Given the description of an element on the screen output the (x, y) to click on. 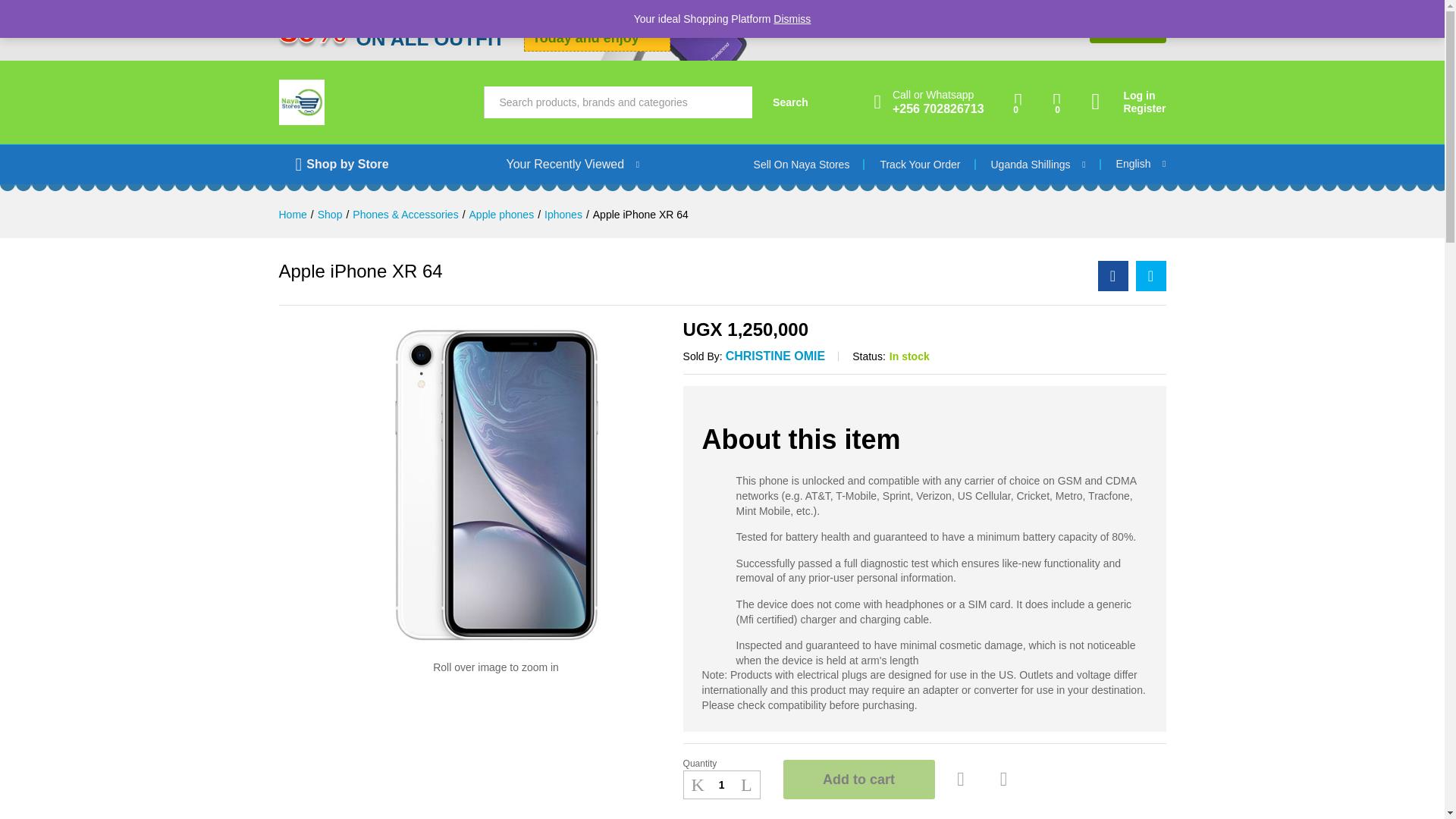
Shop now (1127, 29)
Qty (721, 784)
Apple iPhone XR 64 (1112, 276)
1 (721, 784)
